Given the description of an element on the screen output the (x, y) to click on. 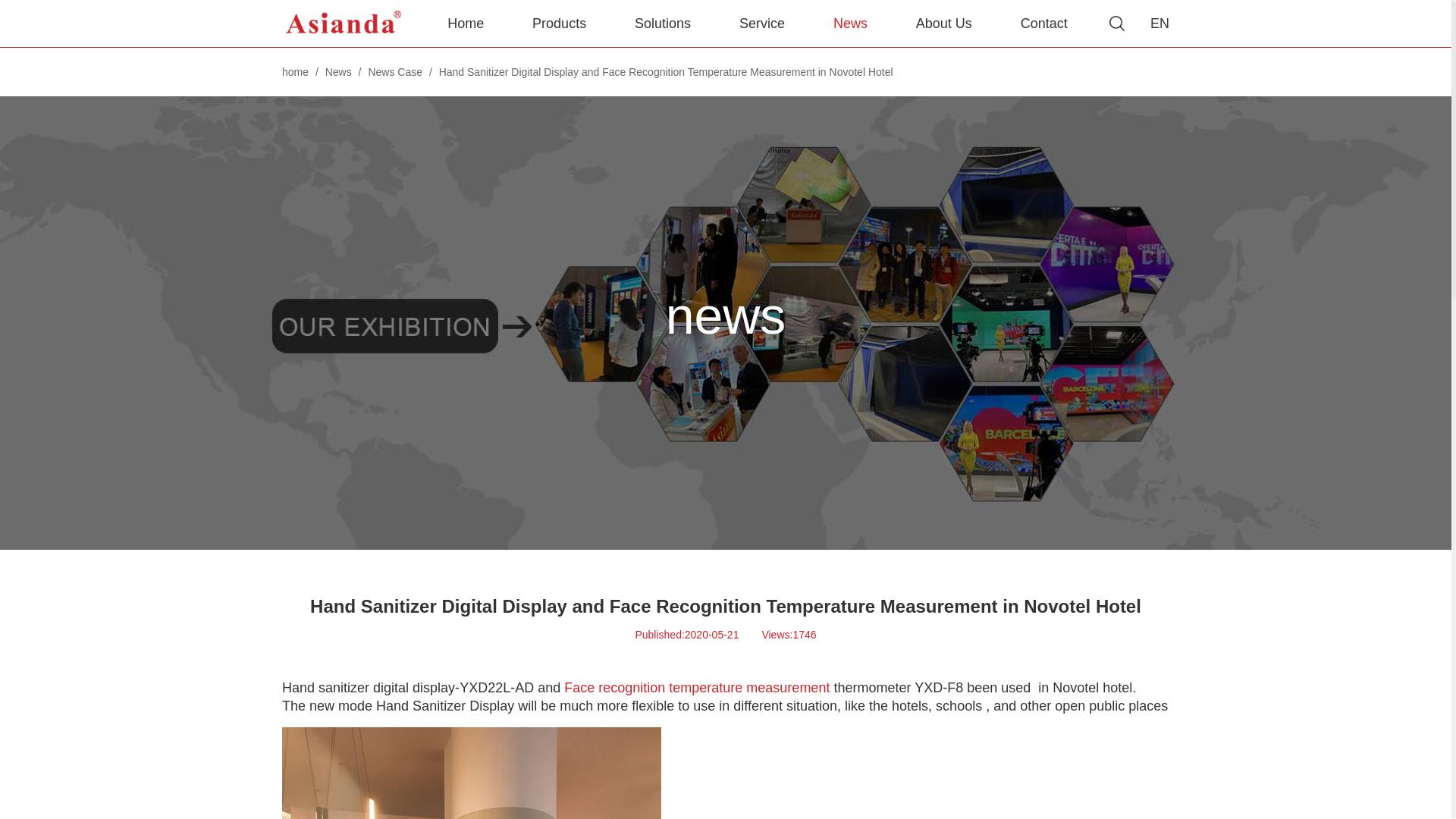
Products (558, 23)
Home (465, 23)
logo (344, 23)
Home (465, 23)
